Given the description of an element on the screen output the (x, y) to click on. 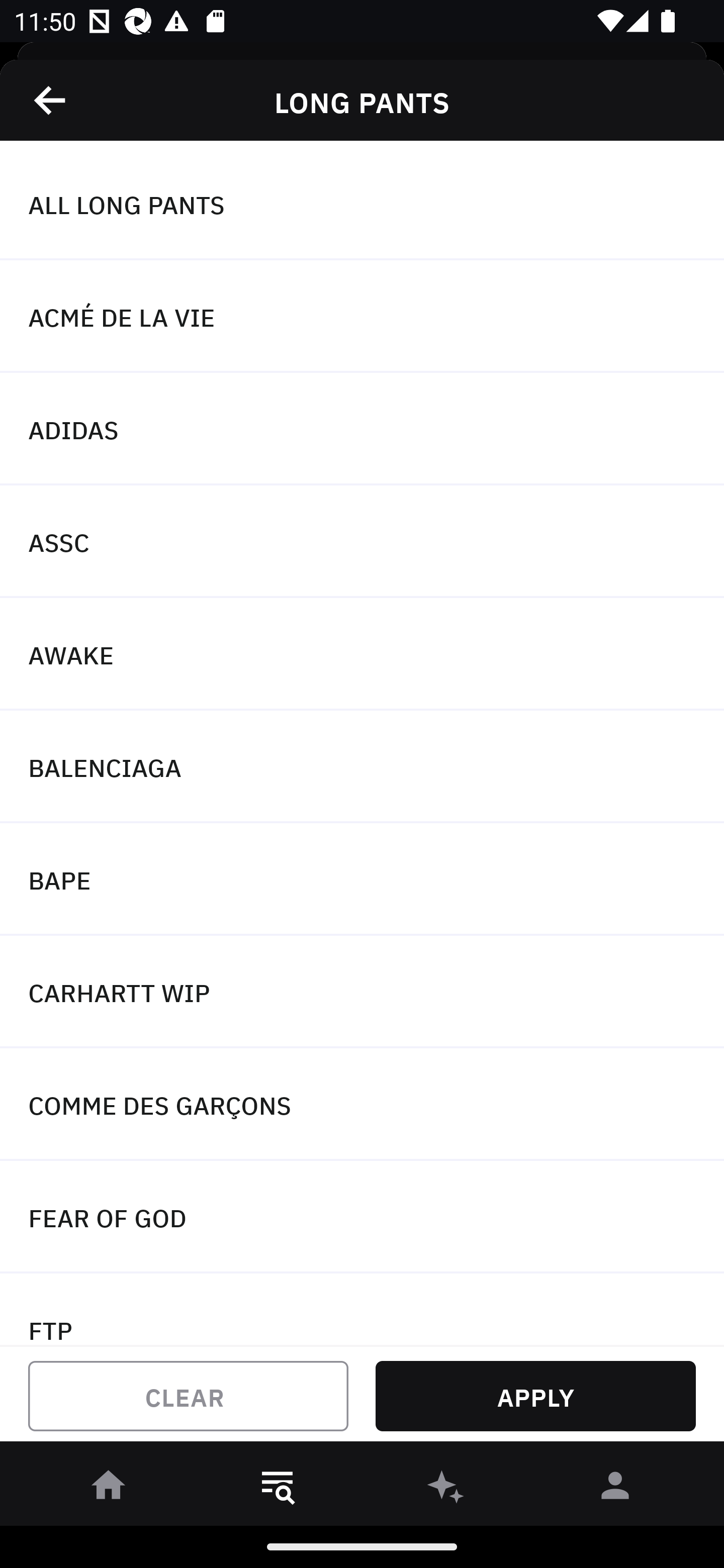
 (50, 100)
ALL LONG PANTS (362, 203)
ACMÉ DE LA VIE (362, 316)
ADIDAS (362, 429)
ASSC (362, 541)
AWAKE (362, 653)
BALENCIAGA (362, 766)
BAPE (362, 879)
CARHARTT WIP (362, 992)
COMME DES GARÇONS (362, 1104)
FEAR OF GOD (362, 1216)
FTP (362, 1309)
CLEAR  (188, 1396)
APPLY (535, 1396)
󰋜 (108, 1488)
󱎸 (277, 1488)
󰫢 (446, 1488)
󰀄 (615, 1488)
